Given the description of an element on the screen output the (x, y) to click on. 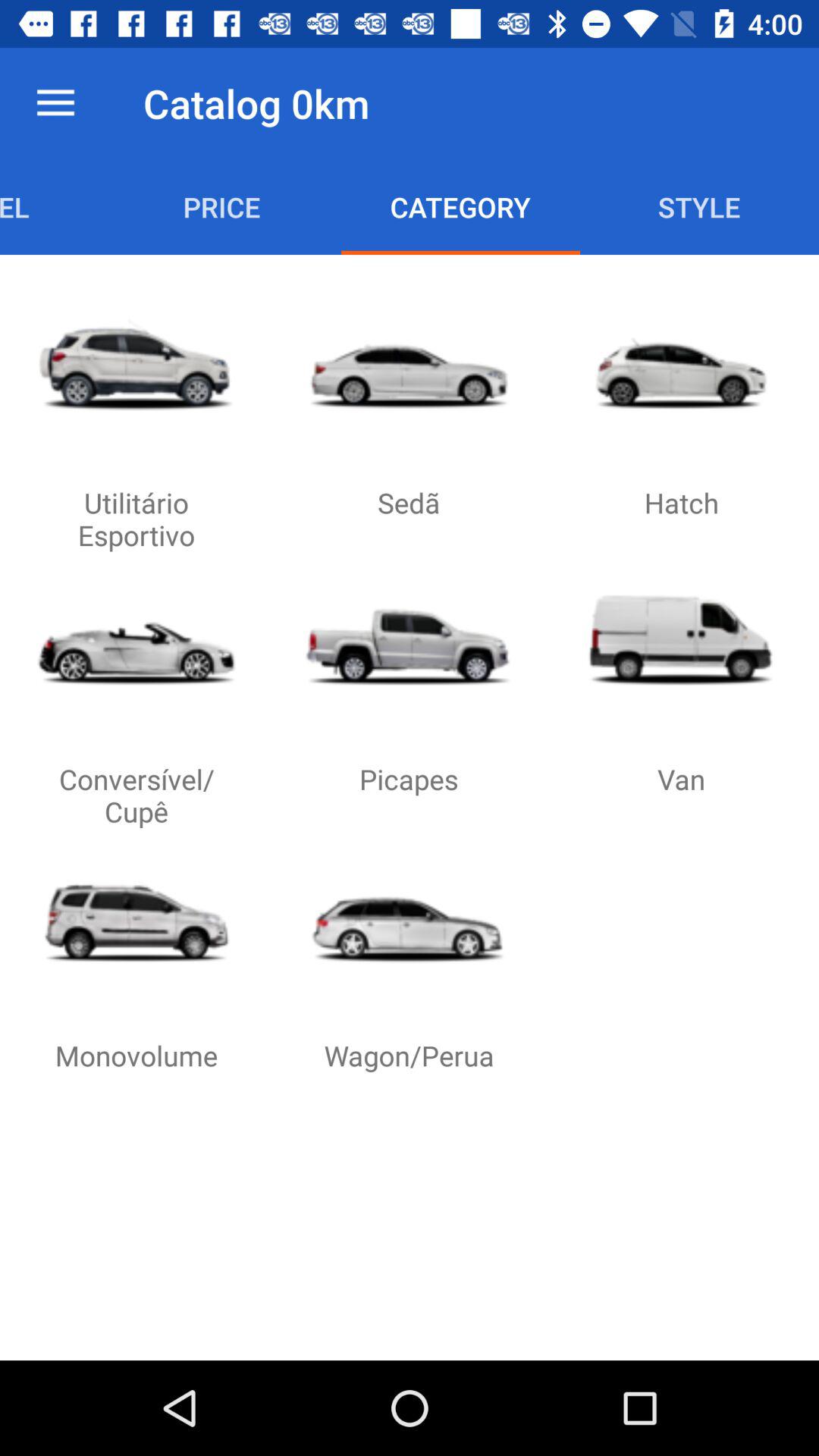
turn on the icon to the left of catalog 0km icon (55, 103)
